Given the description of an element on the screen output the (x, y) to click on. 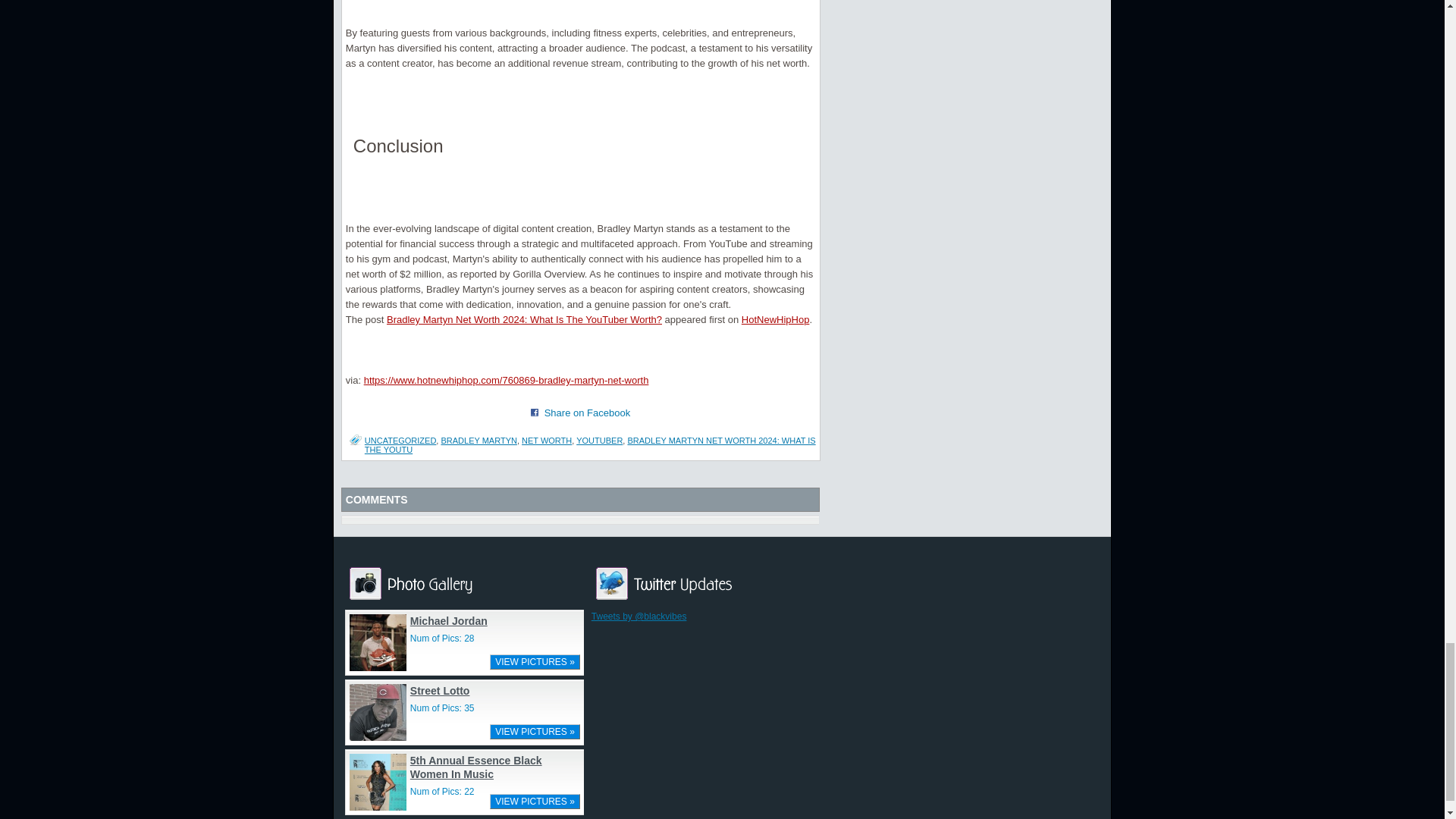
HotNewHipHop (775, 319)
net worth (546, 440)
Uncategorized (400, 440)
NET WORTH (546, 440)
YOUTUBER (599, 440)
bradley martyn (478, 440)
youtuber (599, 440)
UNCATEGORIZED (400, 440)
BRADLEY MARTYN NET WORTH 2024: WHAT IS THE YOUTU (590, 444)
BRADLEY MARTYN (478, 440)
Bradley Martyn Net Worth 2024: What Is The YouTuber Worth? (524, 319)
Share on Facebook (534, 412)
Share on Facebook (587, 412)
